Given the description of an element on the screen output the (x, y) to click on. 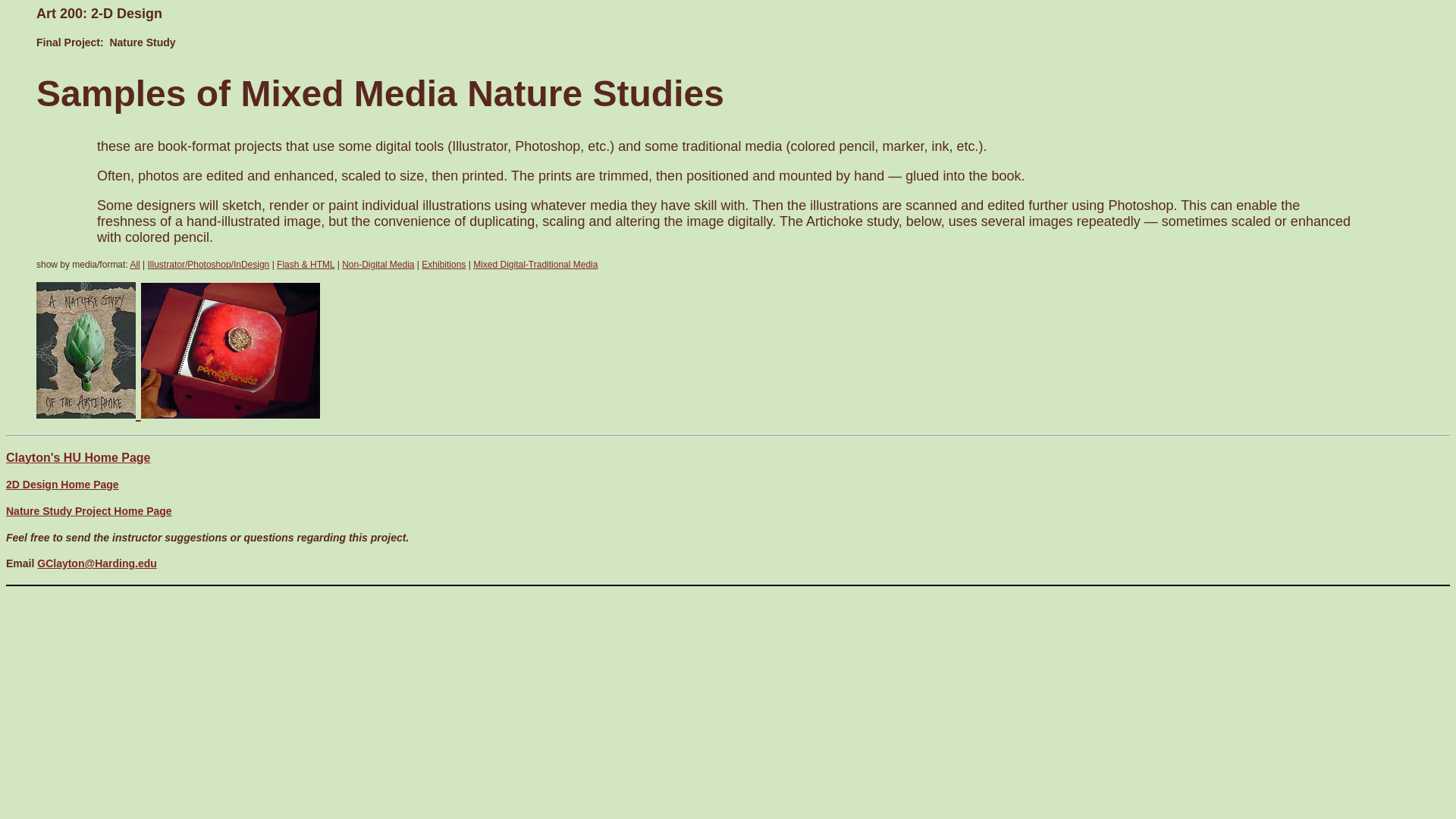
All (134, 264)
Mixed Digital-Traditional Media (534, 264)
Non-Digital Media (377, 264)
Clayton's HU Home Page (78, 458)
Nature Study Project Home Page (88, 510)
2D Design Home Page (62, 484)
Exhibitions (443, 264)
